Given the description of an element on the screen output the (x, y) to click on. 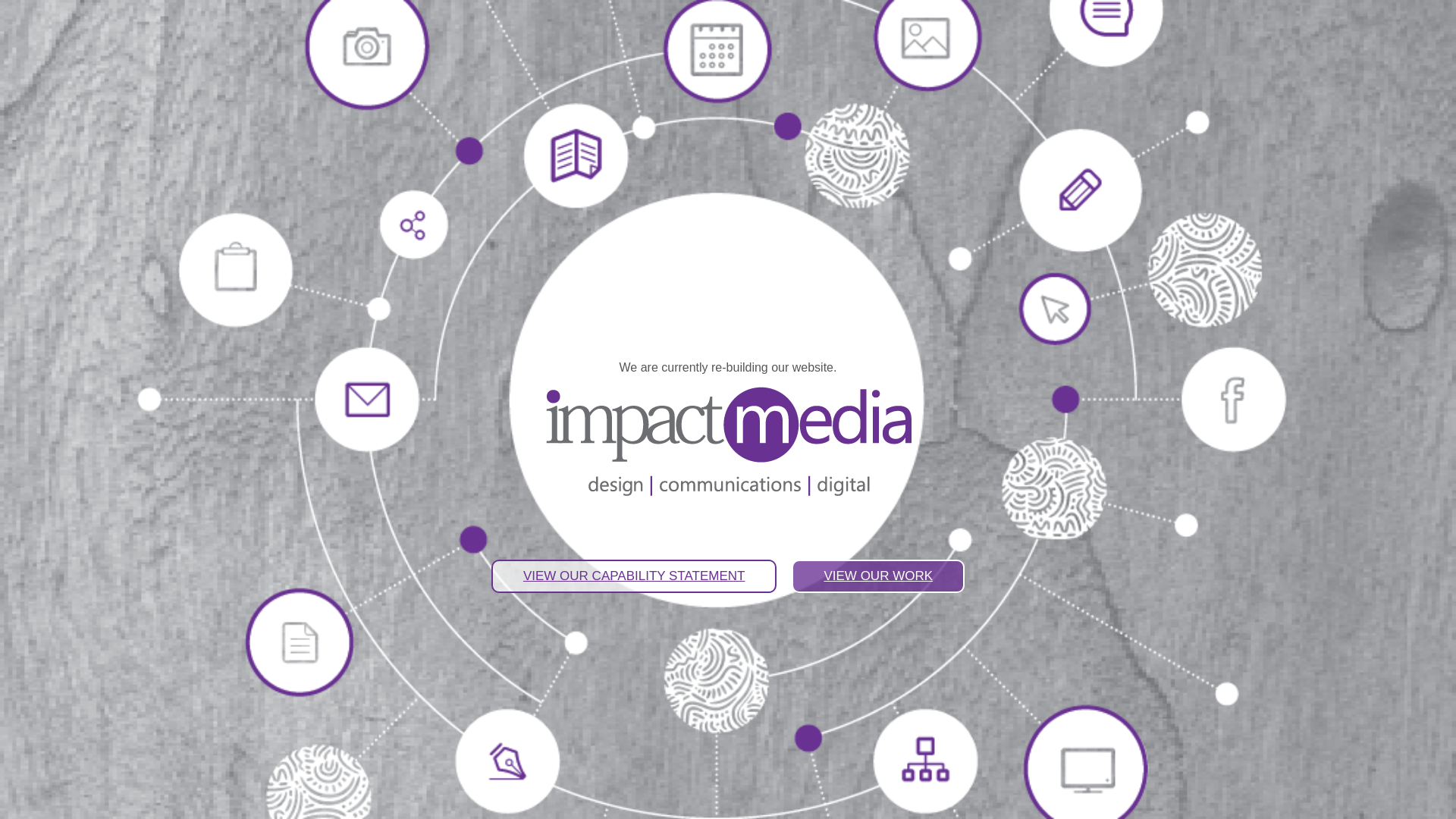
VIEW OUR WORK Element type: text (877, 576)
VIEW OUR CAPABILITY STATEMENT Element type: text (634, 576)
